Given the description of an element on the screen output the (x, y) to click on. 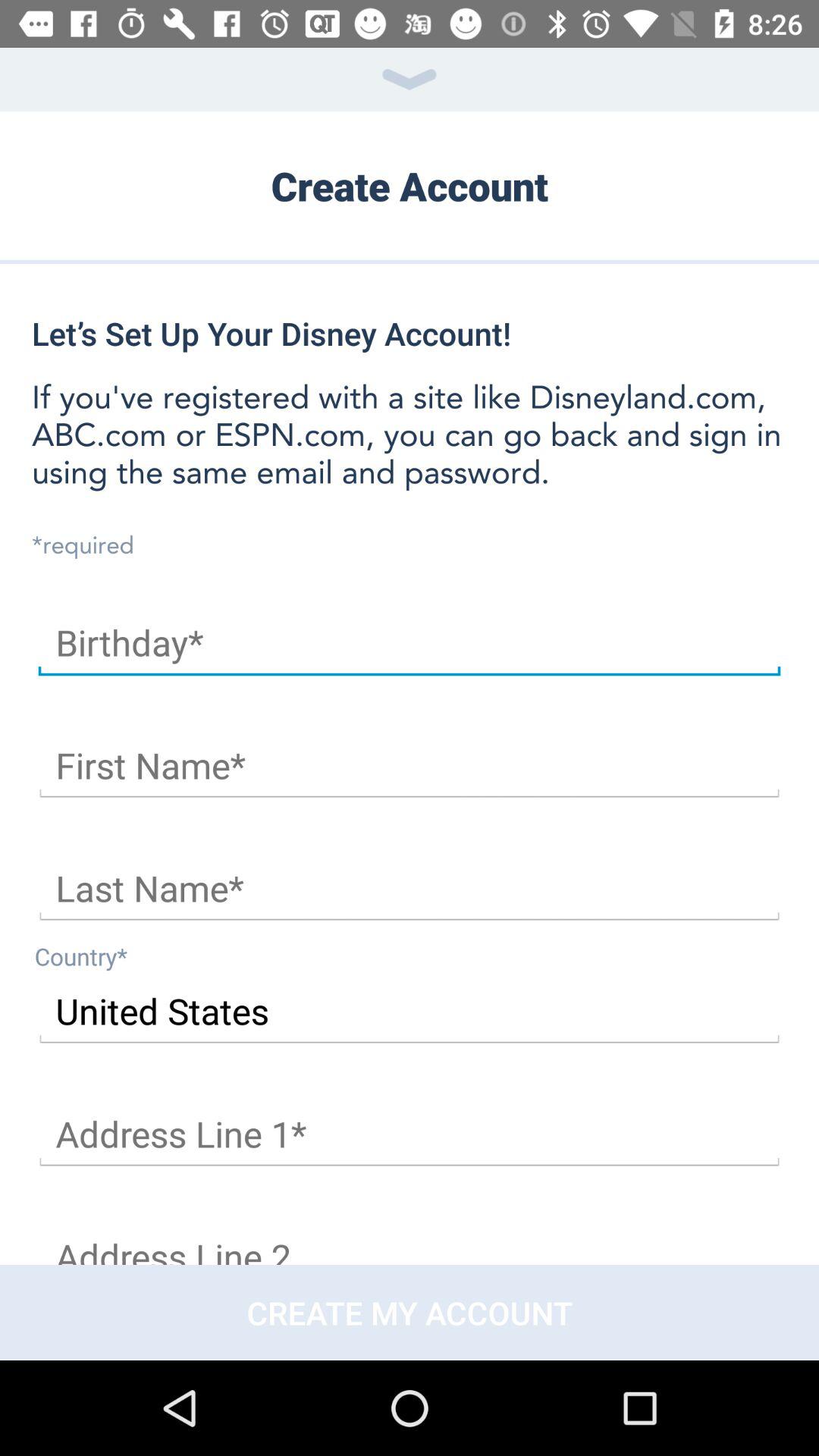
address textbox (409, 1134)
